Given the description of an element on the screen output the (x, y) to click on. 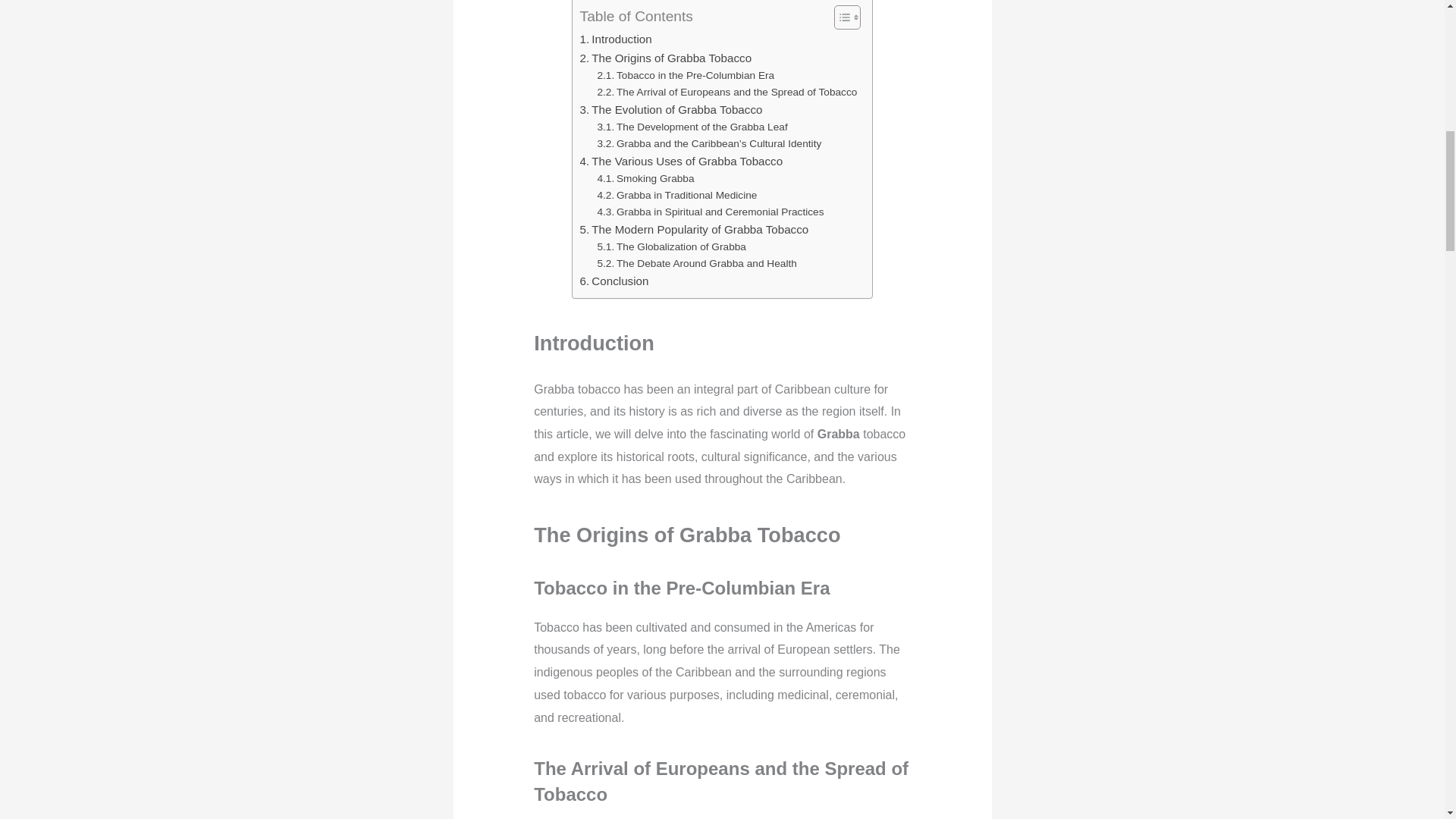
The Origins of Grabba Tobacco (665, 58)
The Development of the Grabba Leaf (691, 126)
The Development of the Grabba Leaf (691, 126)
Introduction (615, 39)
Introduction (615, 39)
The Origins of Grabba Tobacco (665, 58)
The Evolution of Grabba Tobacco (670, 109)
The Various Uses of Grabba Tobacco (681, 161)
The Arrival of Europeans and the Spread of Tobacco (726, 92)
Tobacco in the Pre-Columbian Era (685, 75)
